Given the description of an element on the screen output the (x, y) to click on. 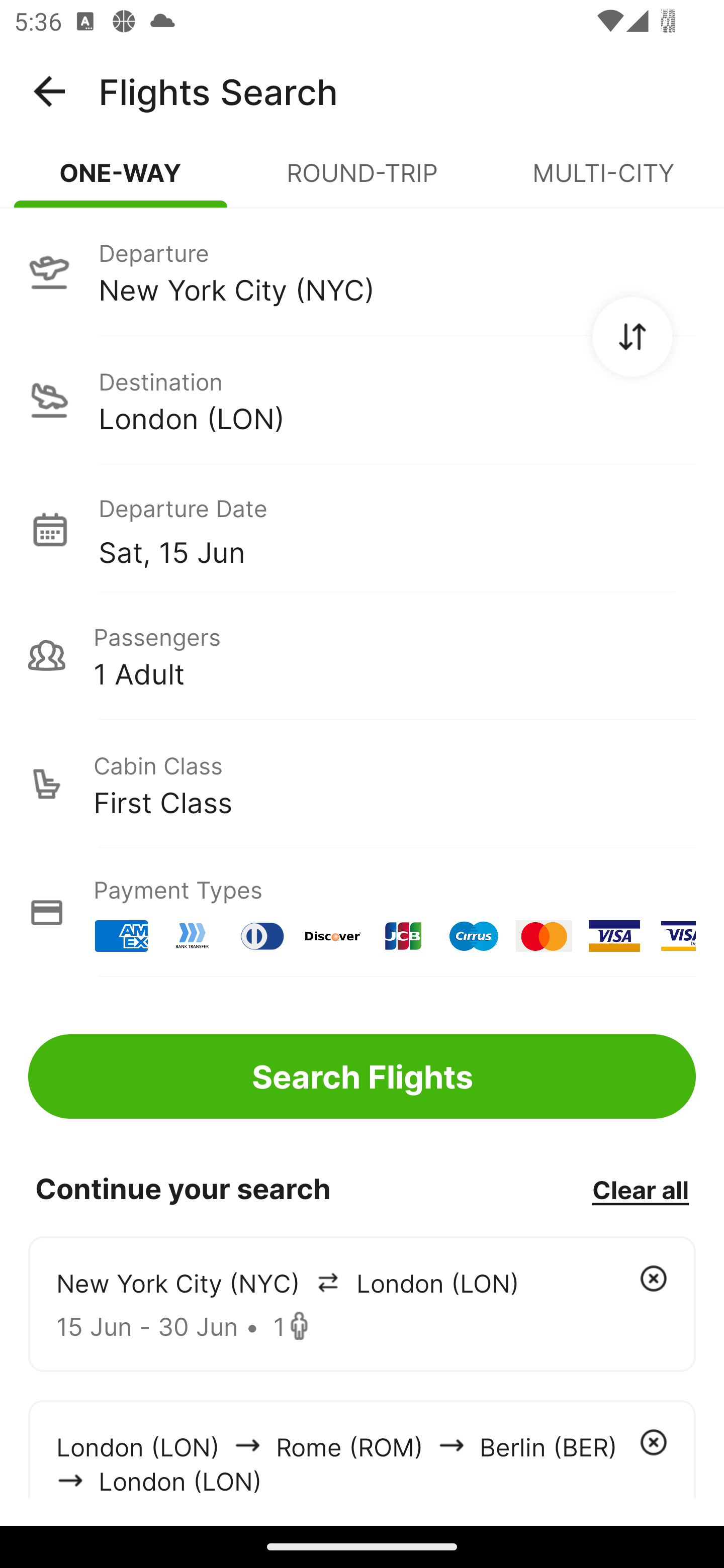
ONE-WAY (120, 180)
ROUND-TRIP (361, 180)
MULTI-CITY (603, 180)
Departure New York City (NYC) (362, 270)
Destination London (LON) (362, 400)
Departure Date Sat, 15 Jun (396, 528)
Passengers 1 Adult (362, 655)
Cabin Class First Class (362, 783)
Payment Types (362, 912)
Search Flights (361, 1075)
Clear all (640, 1189)
